Given the description of an element on the screen output the (x, y) to click on. 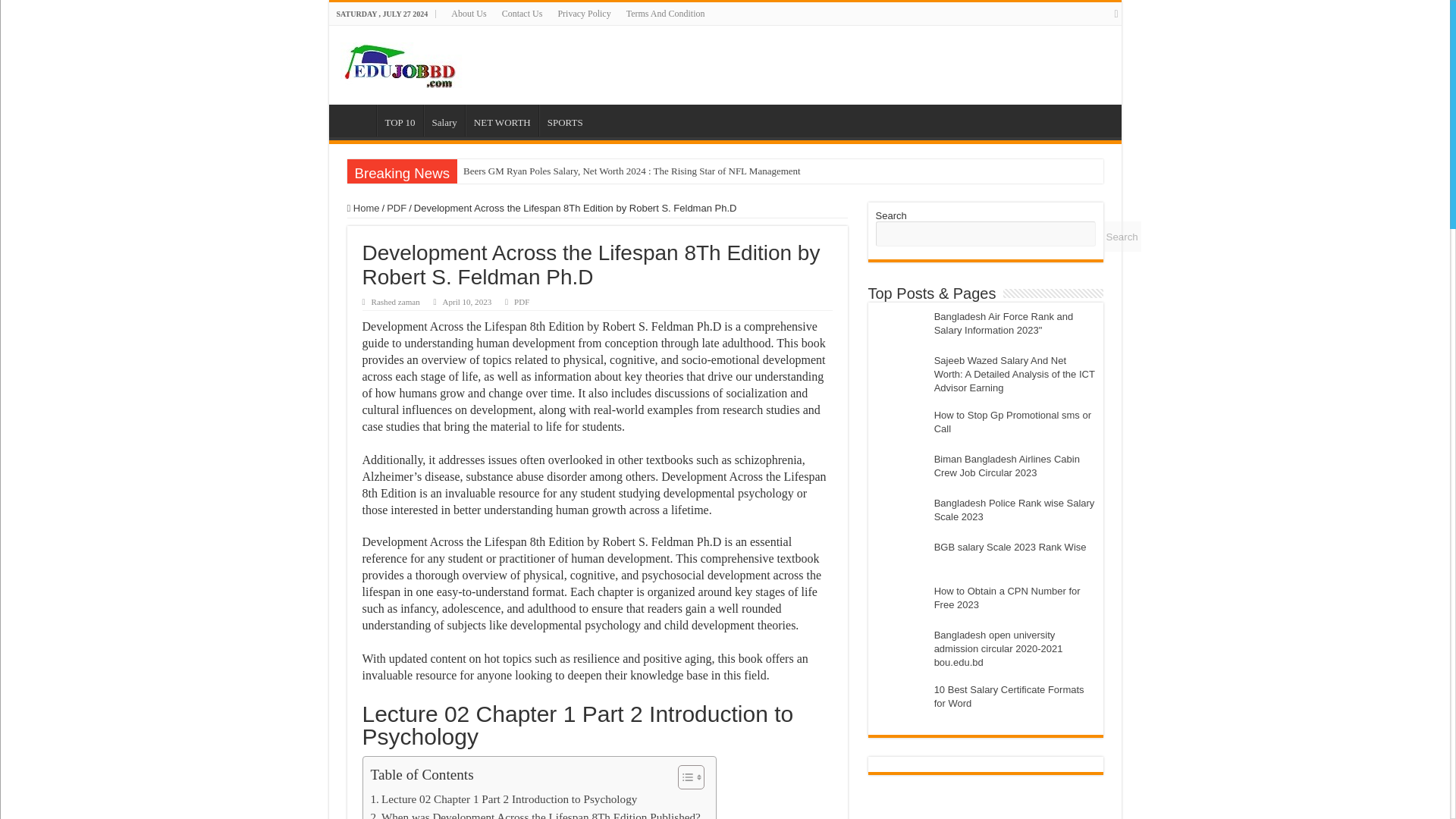
Privacy Policy (583, 13)
Edu Job Bd (411, 61)
PDF (396, 207)
Rss (1115, 13)
Lecture 02 Chapter 1 Part 2 Introduction to Psychology (503, 799)
Home (363, 207)
Terms And Condition (665, 13)
SPORTS (564, 120)
Lecture 02 Chapter 1 Part 2 Introduction to Psychology (503, 799)
TOP 10 (398, 120)
NET WORTH (501, 120)
Contact Us (522, 13)
